Given the description of an element on the screen output the (x, y) to click on. 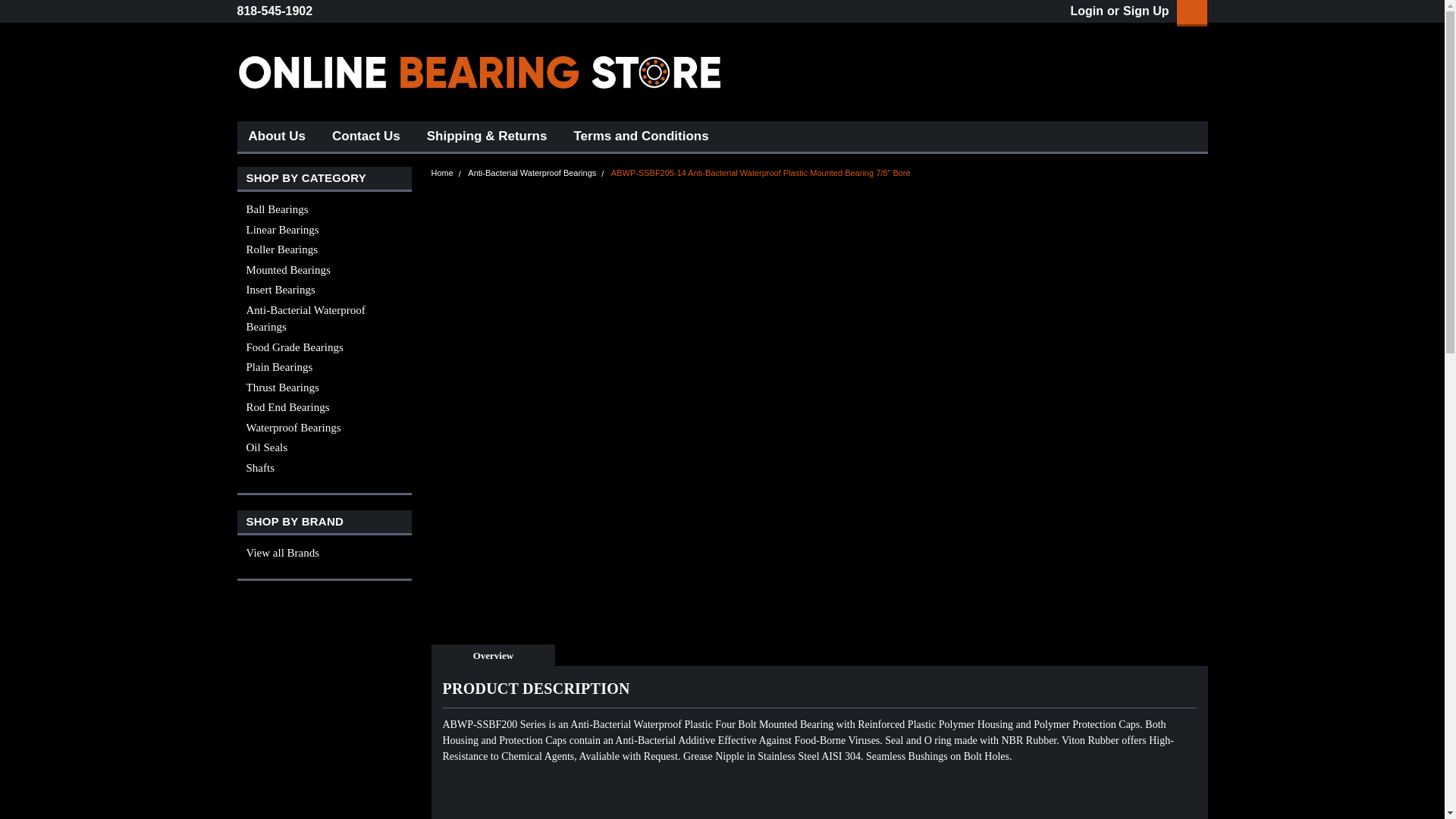
Login (1086, 11)
Online Bearing Store (478, 71)
Sign Up (1144, 11)
